Given the description of an element on the screen output the (x, y) to click on. 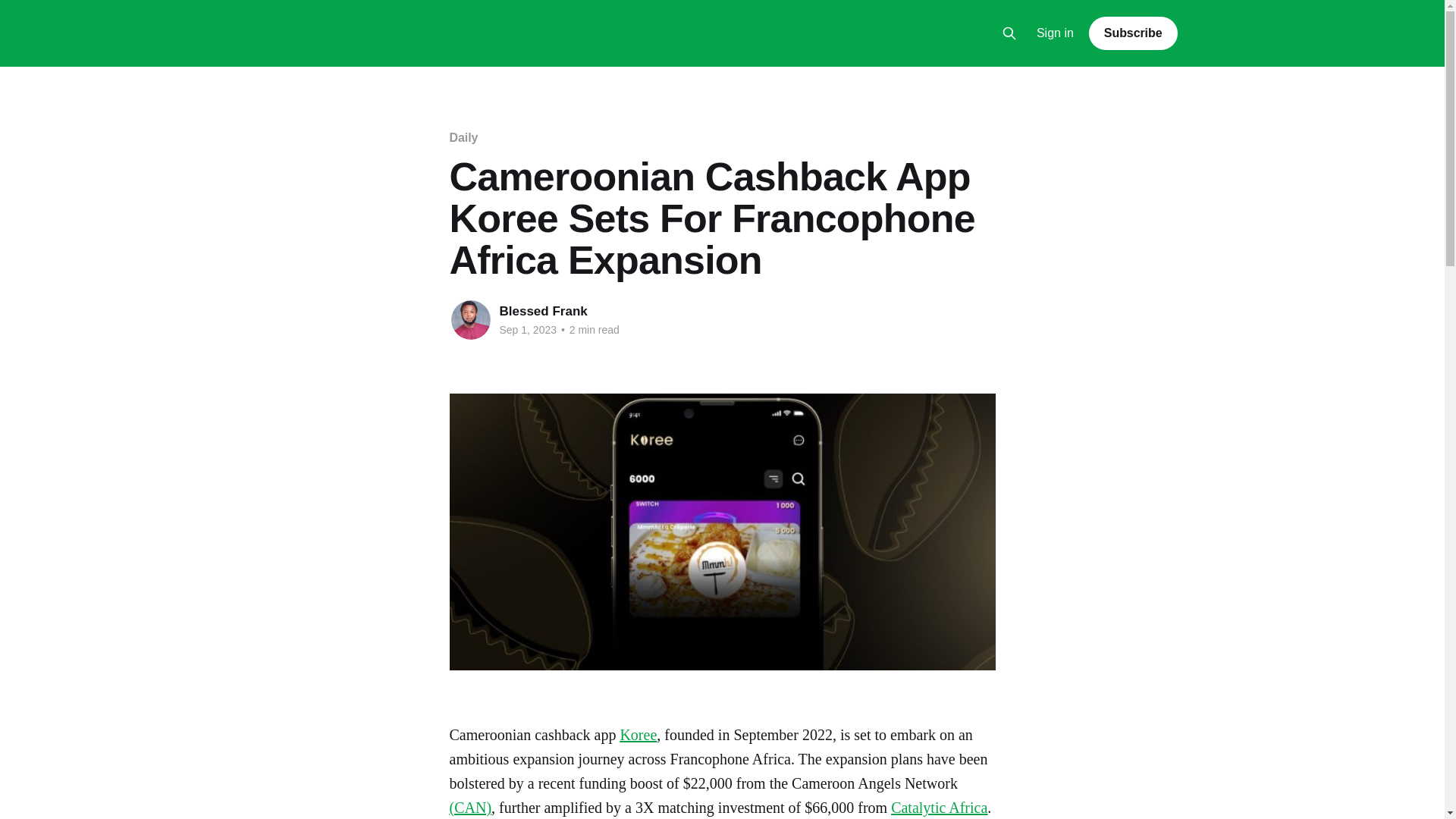
Catalytic Africa (939, 807)
Sign in (1055, 33)
Subscribe (1133, 32)
Blessed Frank (542, 310)
Daily (462, 137)
Koree (638, 734)
